Given the description of an element on the screen output the (x, y) to click on. 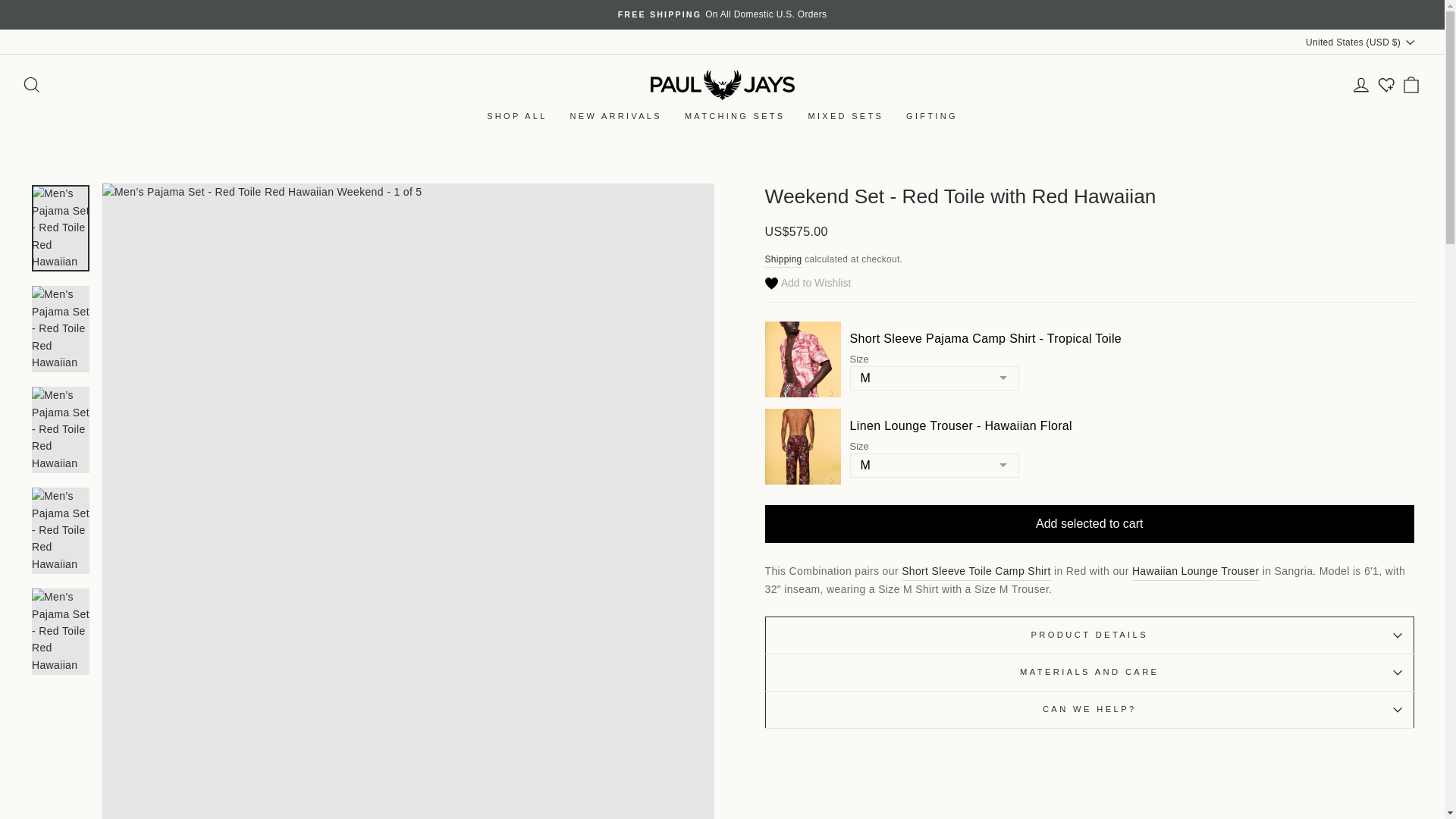
Short Sleeve Pajama Camp Shirt - Tropical Toile (976, 570)
Linen Lounge Trouser - Hawaiian Floral (1195, 570)
